Given the description of an element on the screen output the (x, y) to click on. 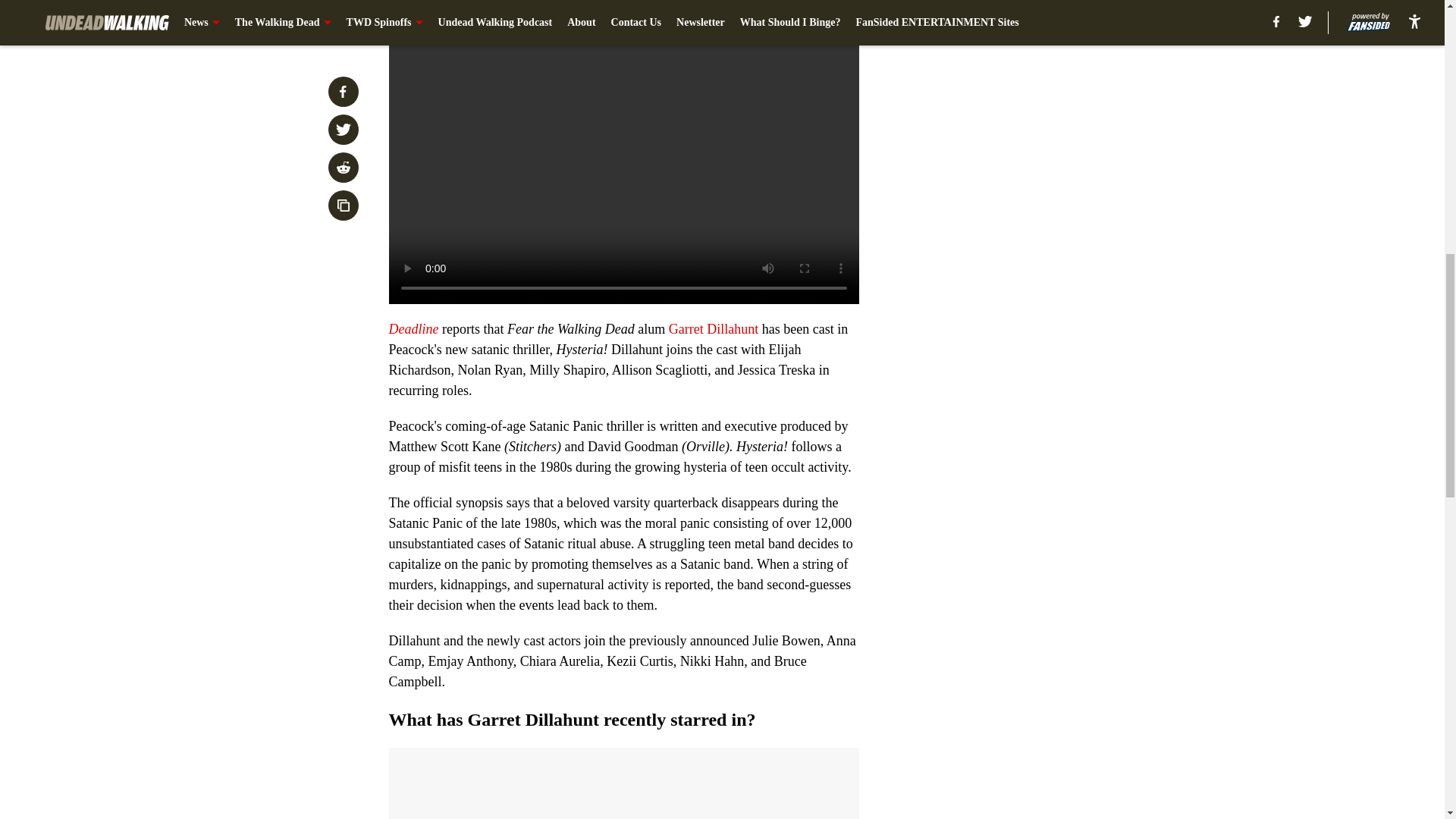
Garret Dillahunt (714, 328)
Deadline (414, 328)
